Given the description of an element on the screen output the (x, y) to click on. 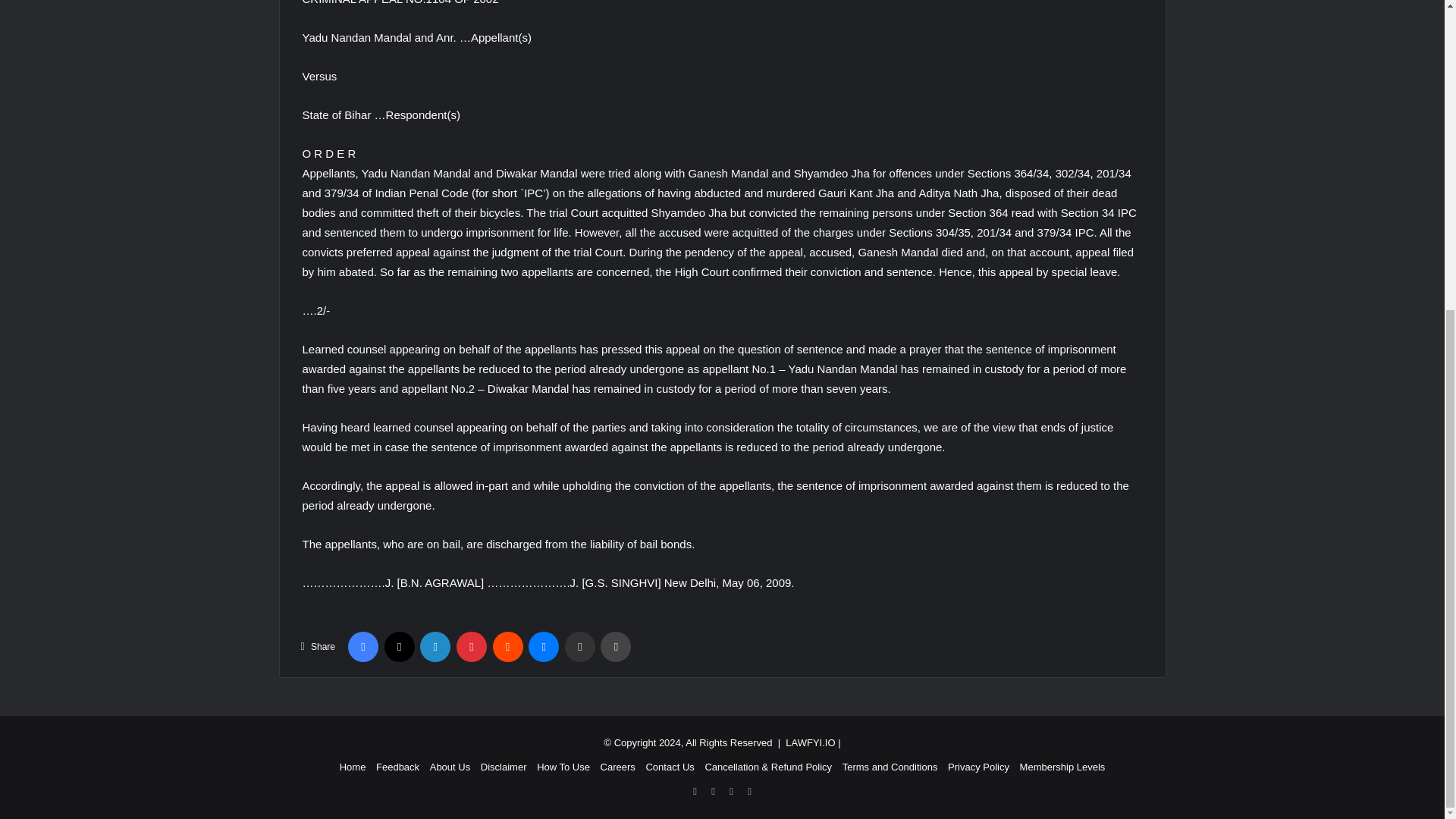
Messenger (543, 646)
X (399, 646)
Facebook (362, 646)
Messenger (543, 646)
Reddit (507, 646)
Reddit (507, 646)
LinkedIn (434, 646)
Facebook (362, 646)
Pinterest (471, 646)
LinkedIn (434, 646)
